Given the description of an element on the screen output the (x, y) to click on. 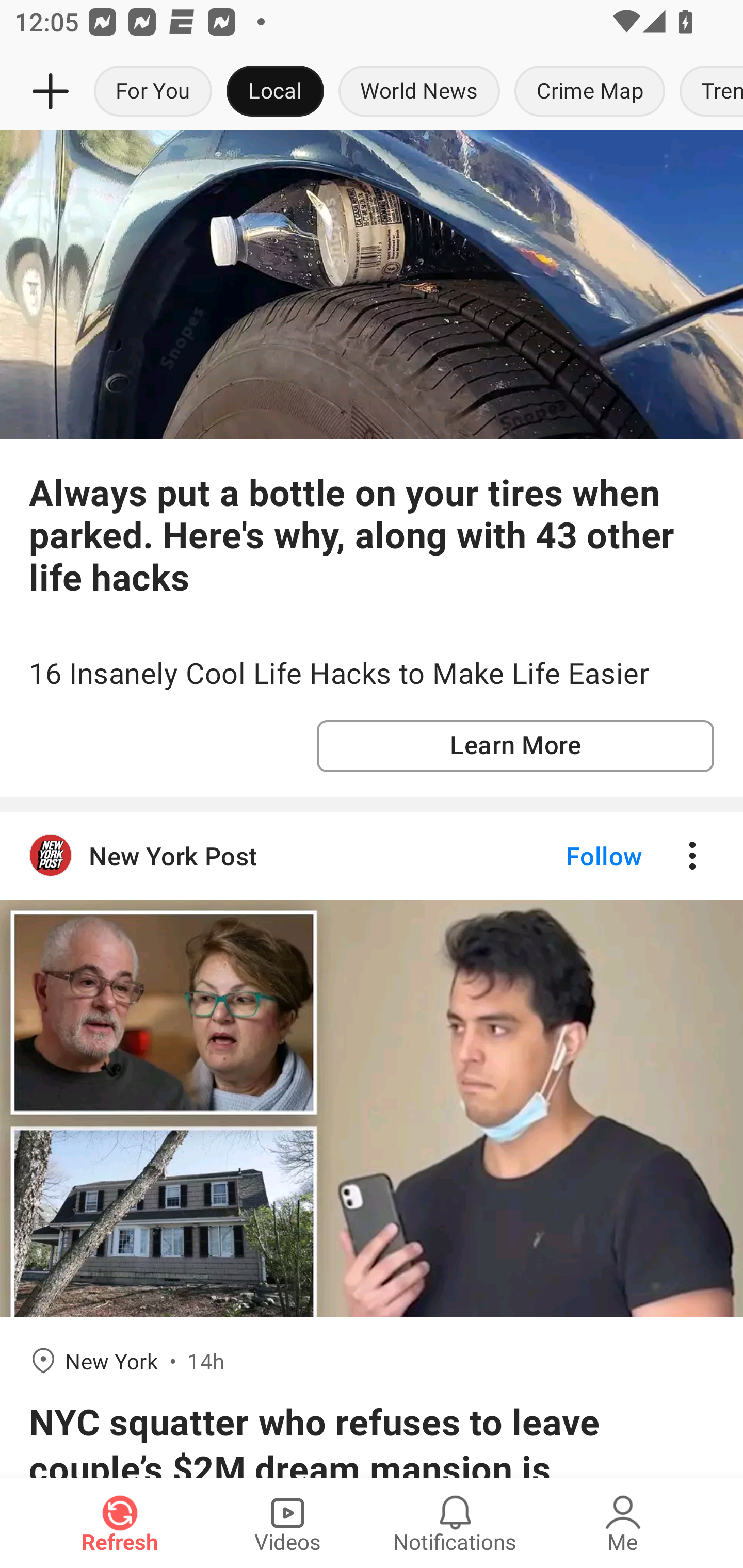
For You (152, 91)
Local (275, 91)
World News (419, 91)
Crime Map (589, 91)
16 Insanely Cool Life Hacks to Make Life Easier (371, 673)
Learn More (515, 745)
New York Post Follow (371, 856)
Follow (569, 856)
Videos (287, 1522)
Notifications (455, 1522)
Me (622, 1522)
